Given the description of an element on the screen output the (x, y) to click on. 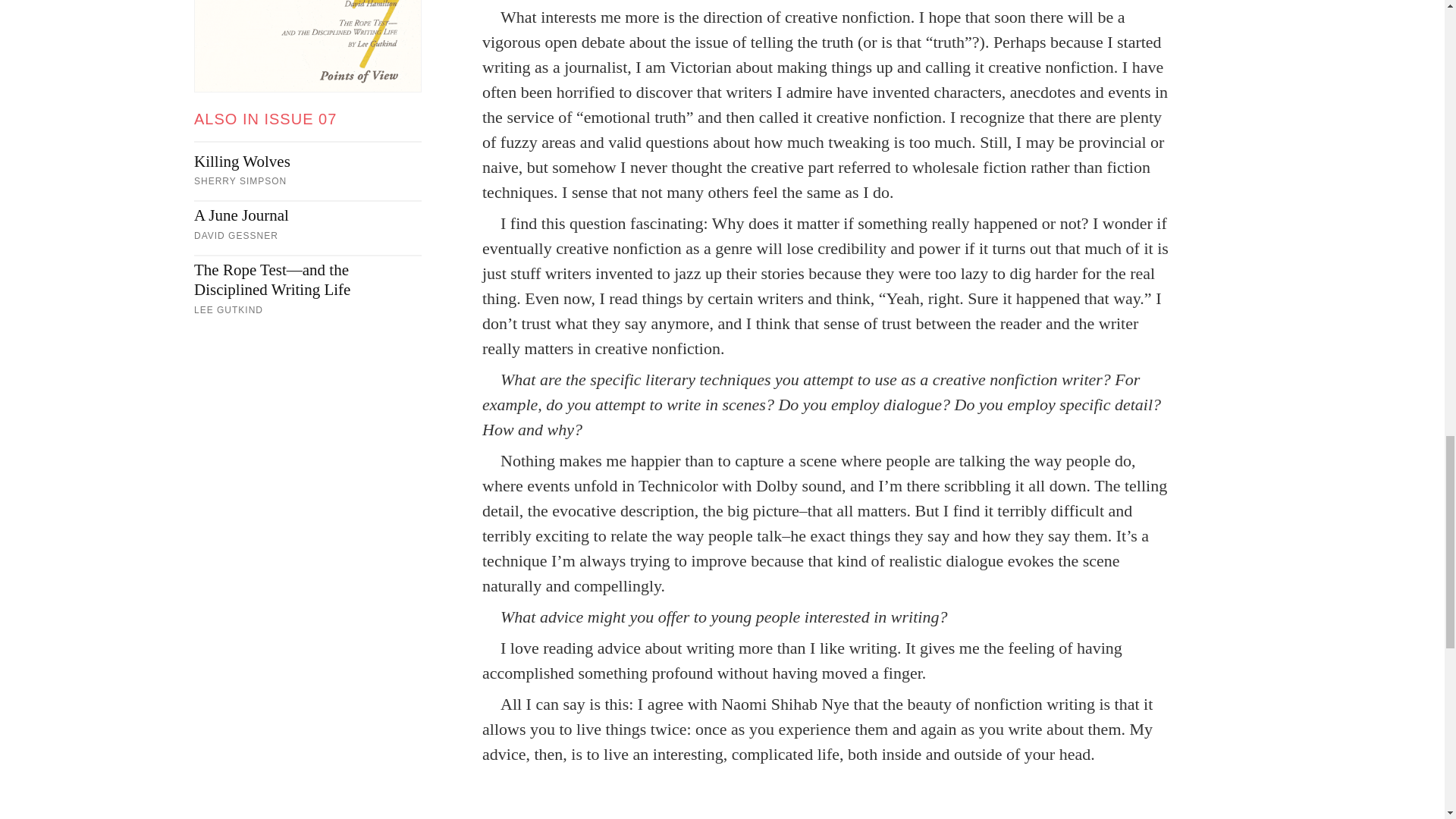
Killing Wolves (307, 161)
Issue 07 (307, 46)
A June Journal (307, 215)
